Given the description of an element on the screen output the (x, y) to click on. 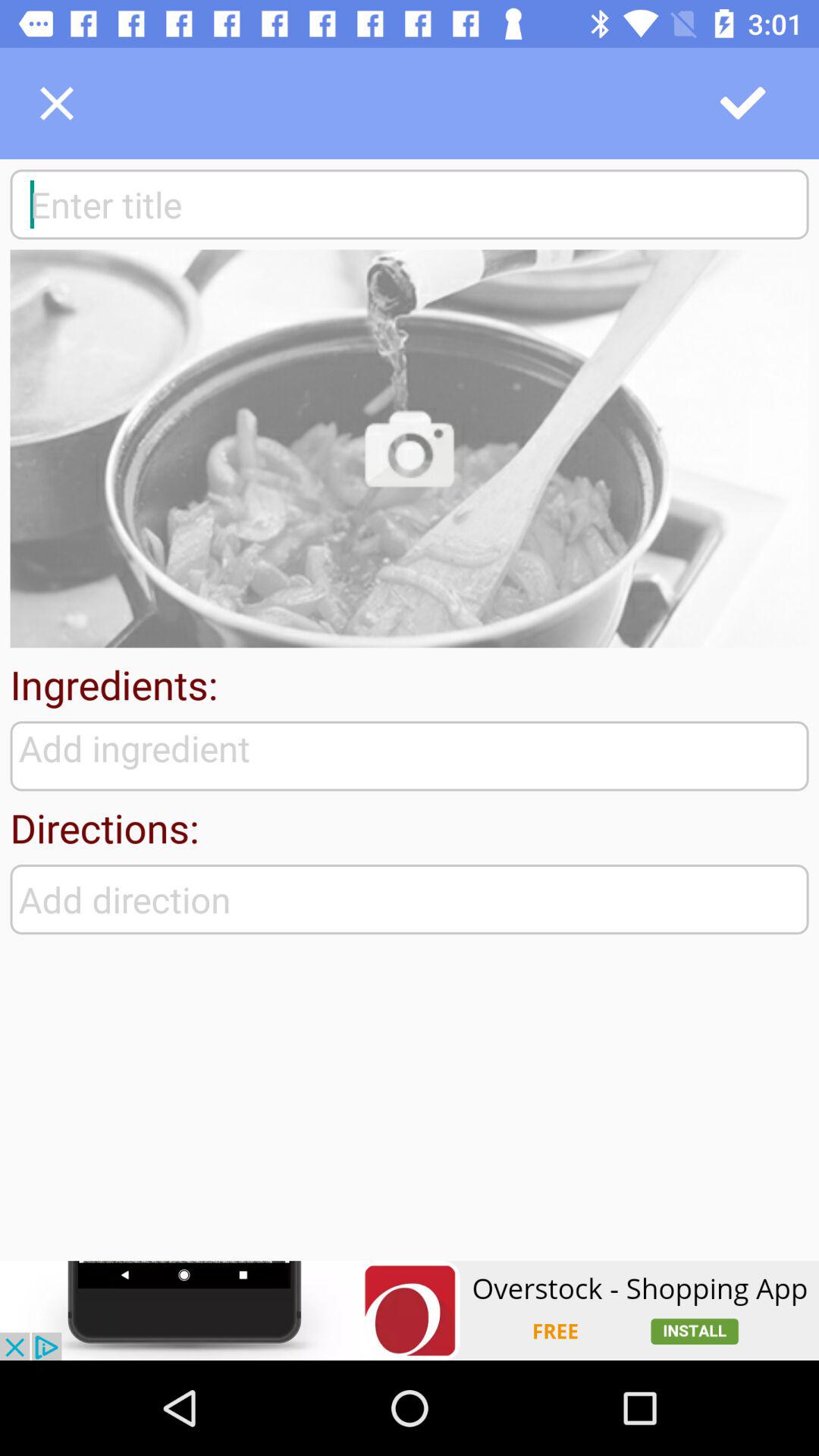
go to search (409, 204)
